Given the description of an element on the screen output the (x, y) to click on. 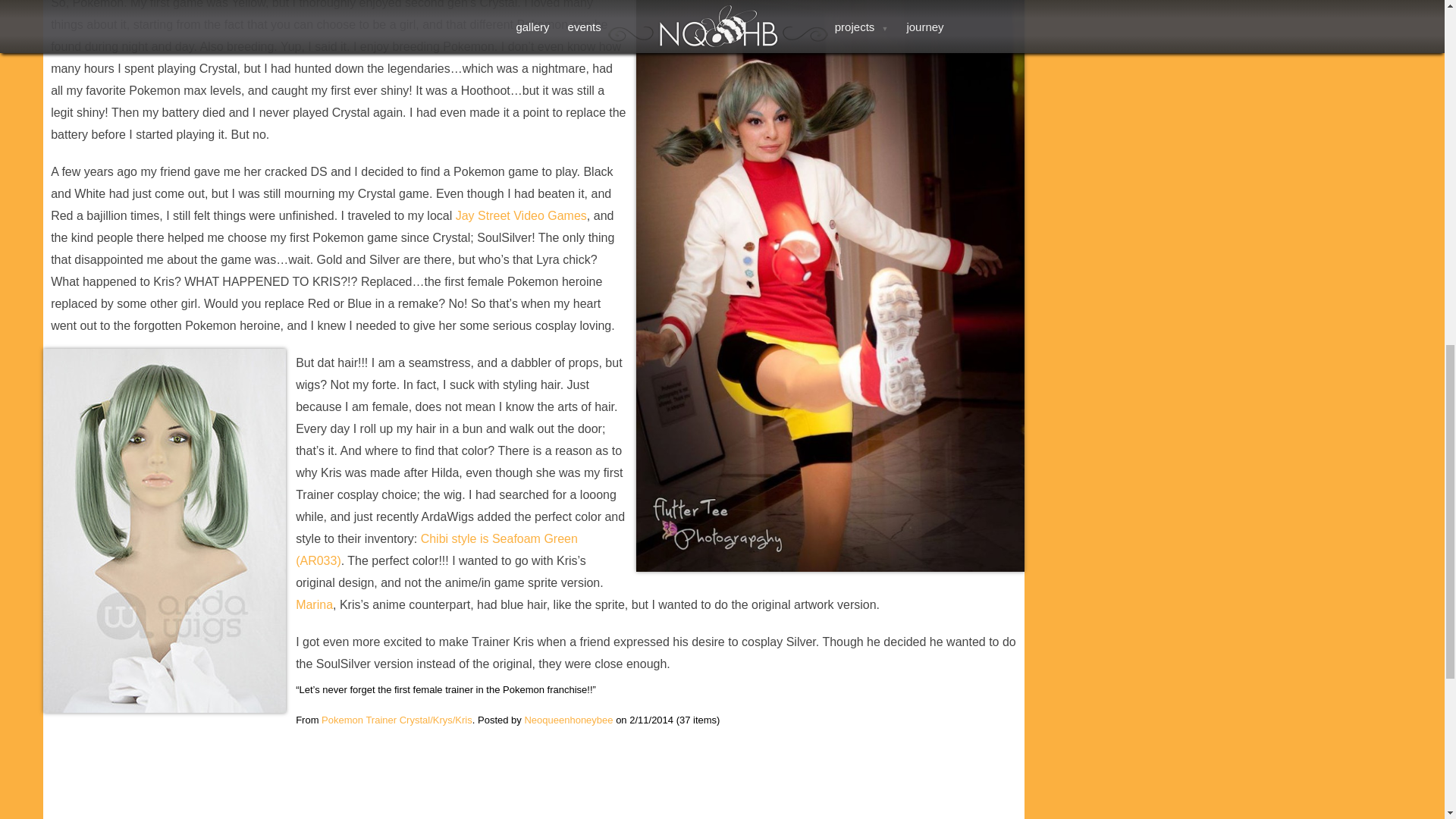
Neoqueenhoneybee (568, 719)
Marina (314, 604)
Jay Street Video Games (520, 215)
